Given the description of an element on the screen output the (x, y) to click on. 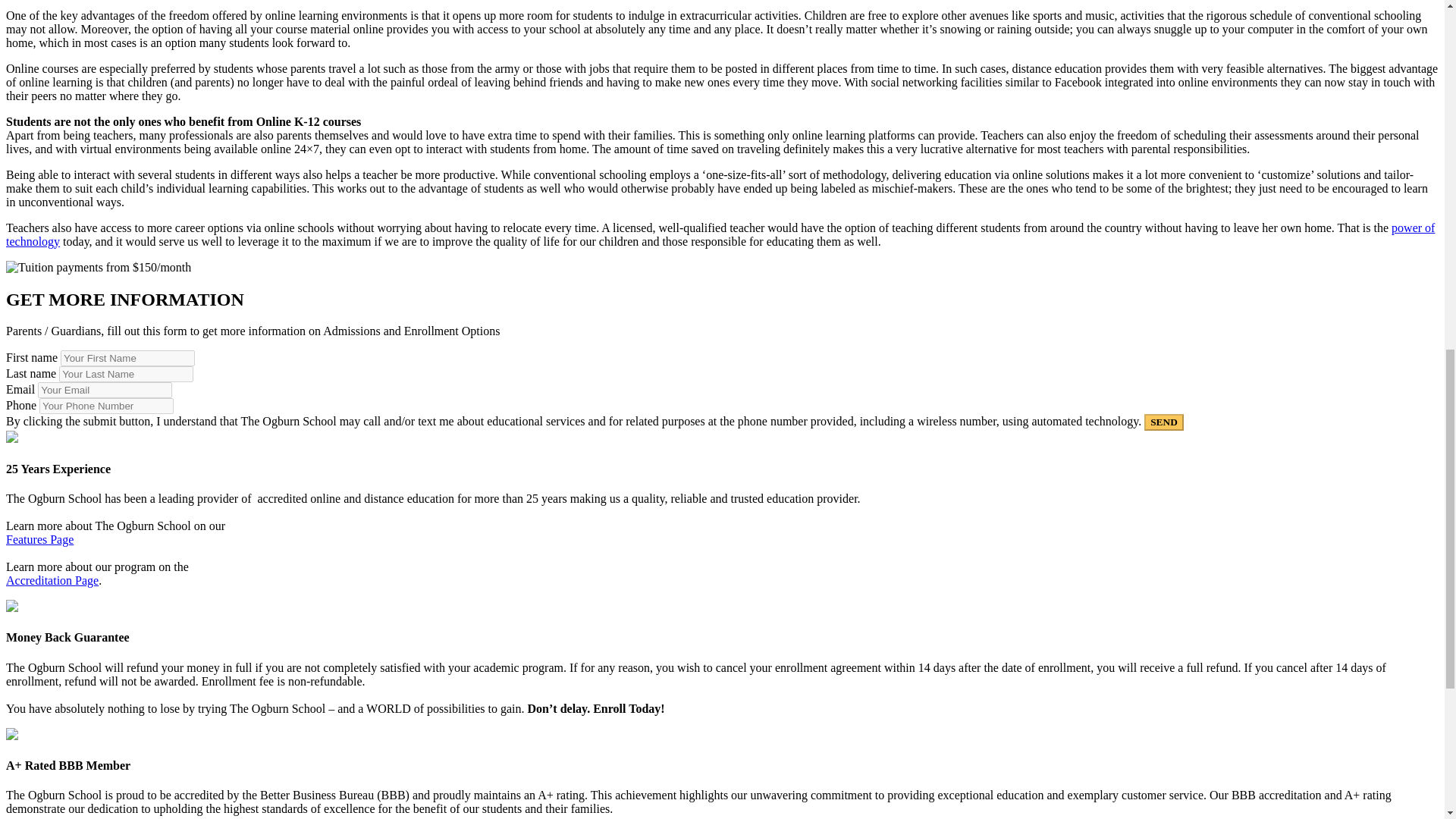
Accreditation Page (52, 580)
SEND (1163, 422)
Features Page (39, 539)
